Given the description of an element on the screen output the (x, y) to click on. 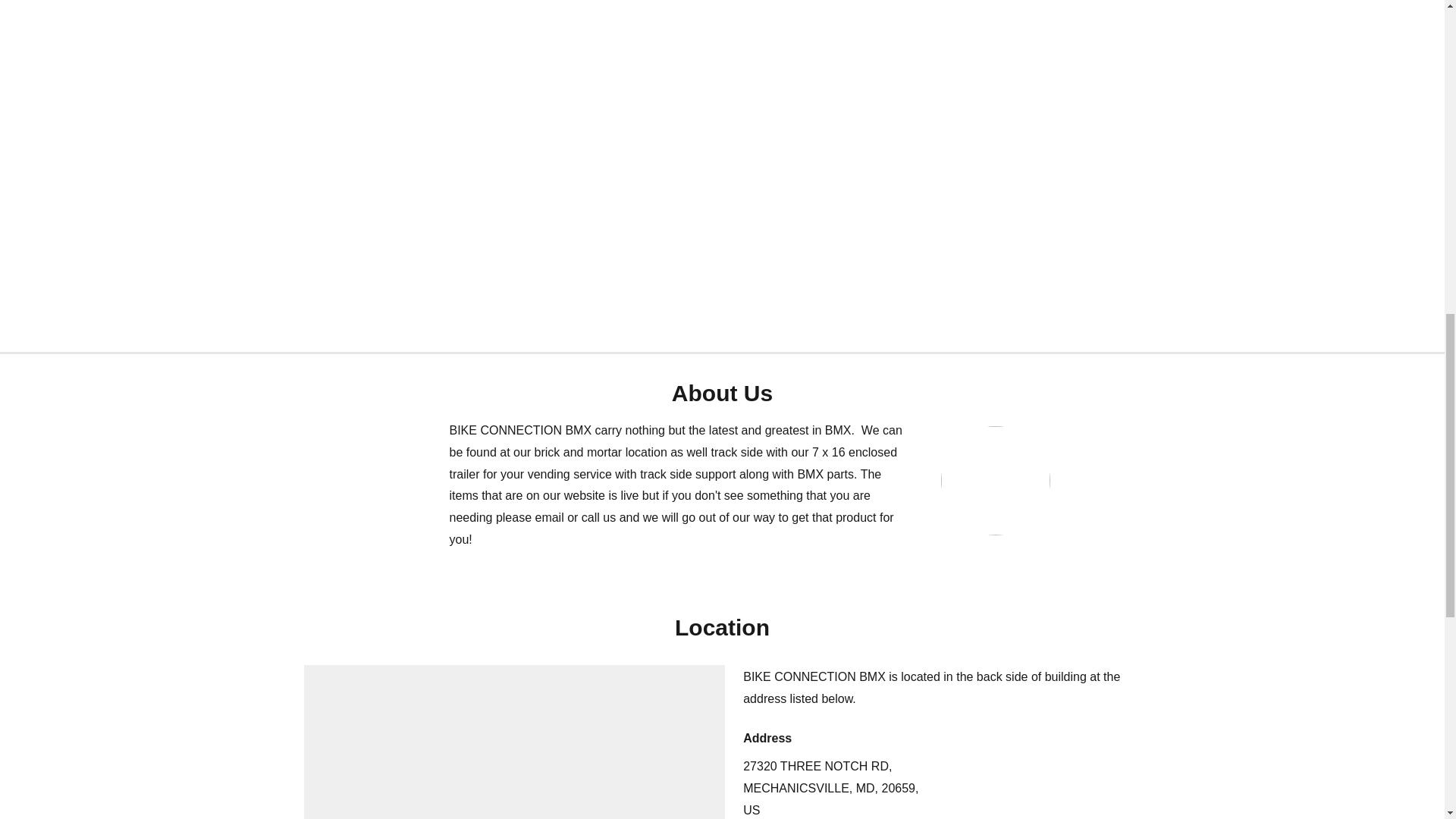
Location on map (513, 742)
